Given the description of an element on the screen output the (x, y) to click on. 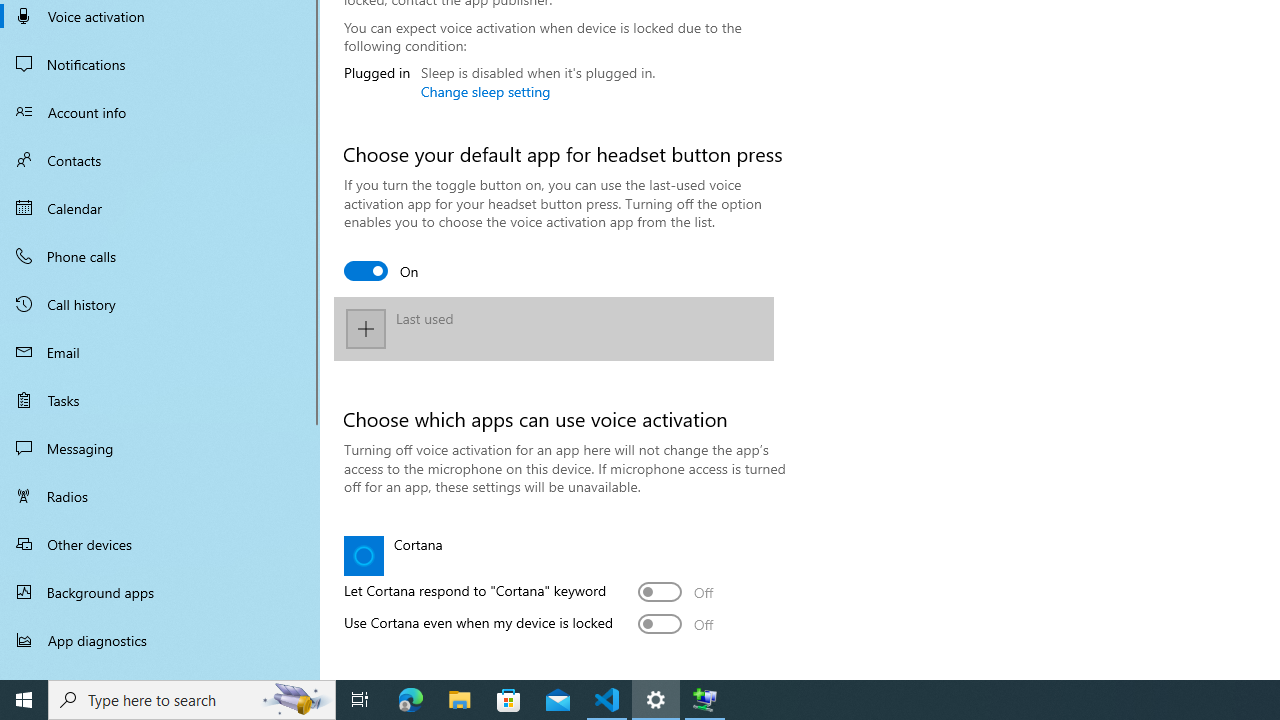
Radios (160, 495)
Call history (160, 304)
Contacts (160, 160)
Notifications (160, 63)
Background apps (160, 592)
Tasks (160, 399)
Calendar (160, 207)
Phone calls (160, 255)
Change sleep setting (485, 91)
Let Cortana respond to "Cortana" keyword (675, 591)
Choose your default app for headset button press (381, 270)
Email (160, 351)
